Given the description of an element on the screen output the (x, y) to click on. 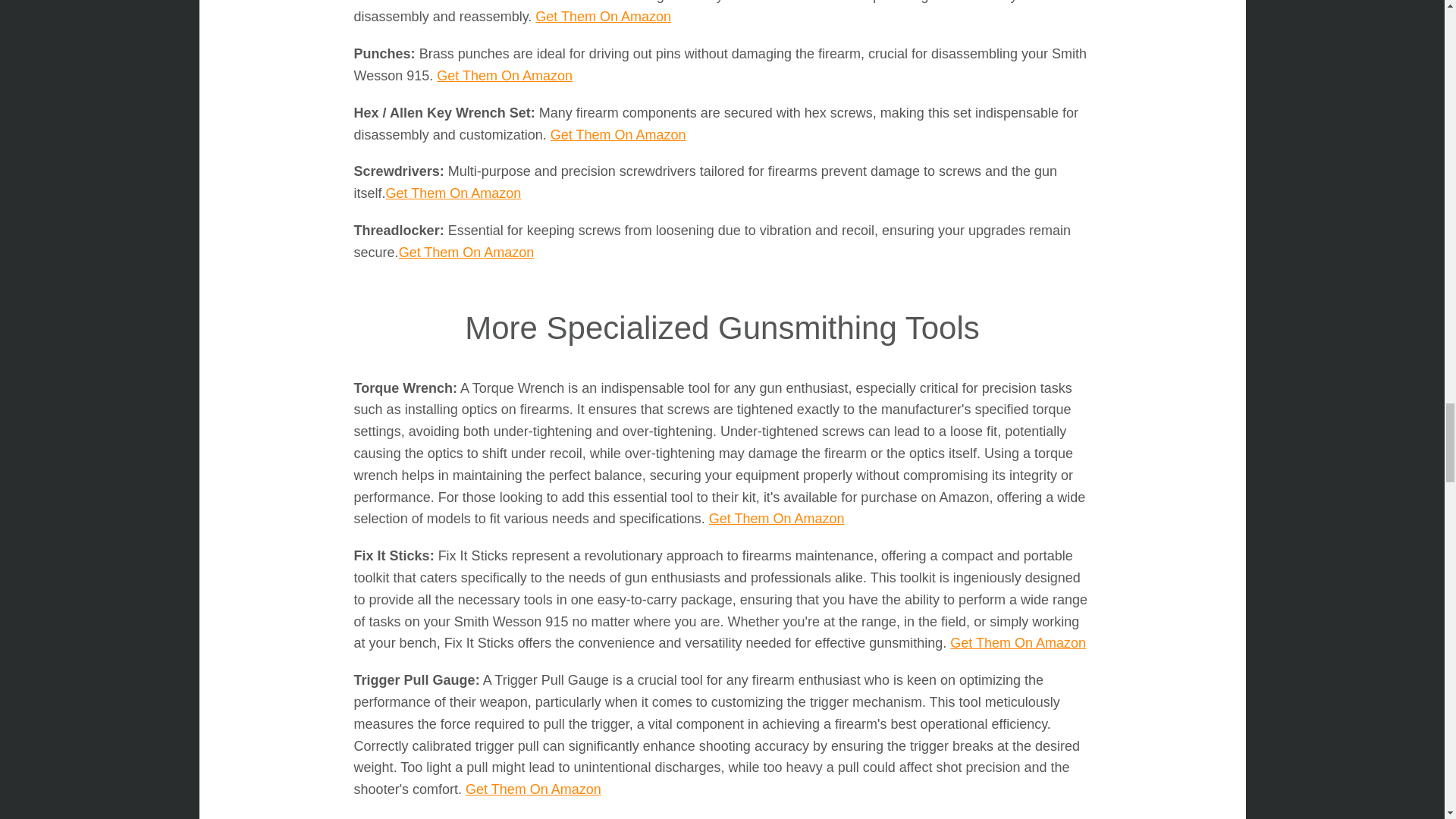
Get Them On Amazon (453, 192)
Get Them On Amazon (617, 134)
Get Them On Amazon (466, 252)
Get Them On Amazon (603, 16)
Get Them On Amazon (1018, 642)
Get Them On Amazon (776, 518)
Get Them On Amazon (504, 75)
Get Them On Amazon (533, 789)
